Given the description of an element on the screen output the (x, y) to click on. 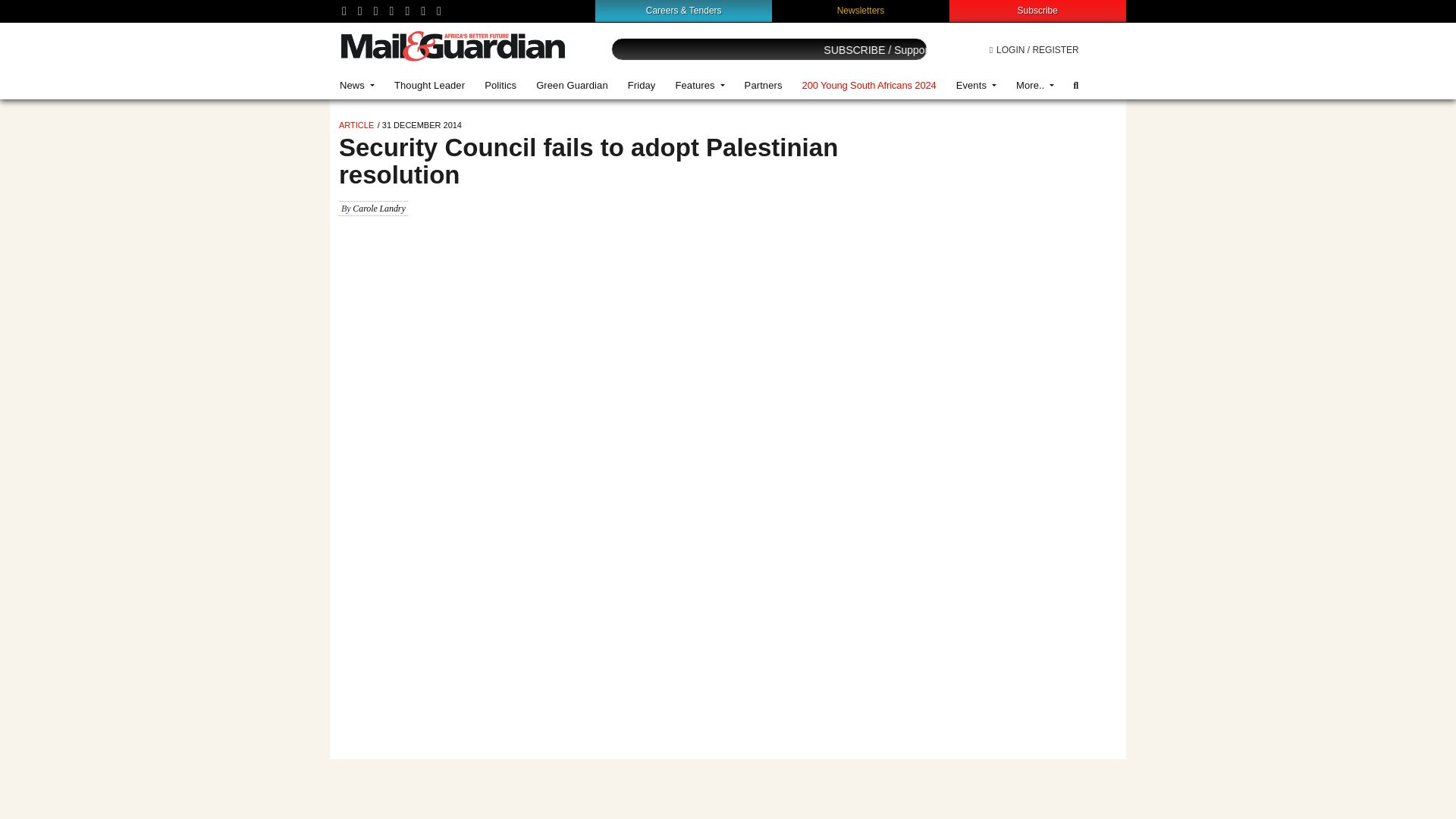
Thought Leader (429, 85)
Newsletters (861, 9)
Politics (499, 85)
Friday (641, 85)
News (357, 85)
Green Guardian (571, 85)
News (357, 85)
Subscribe (1037, 9)
Features (699, 85)
